Given the description of an element on the screen output the (x, y) to click on. 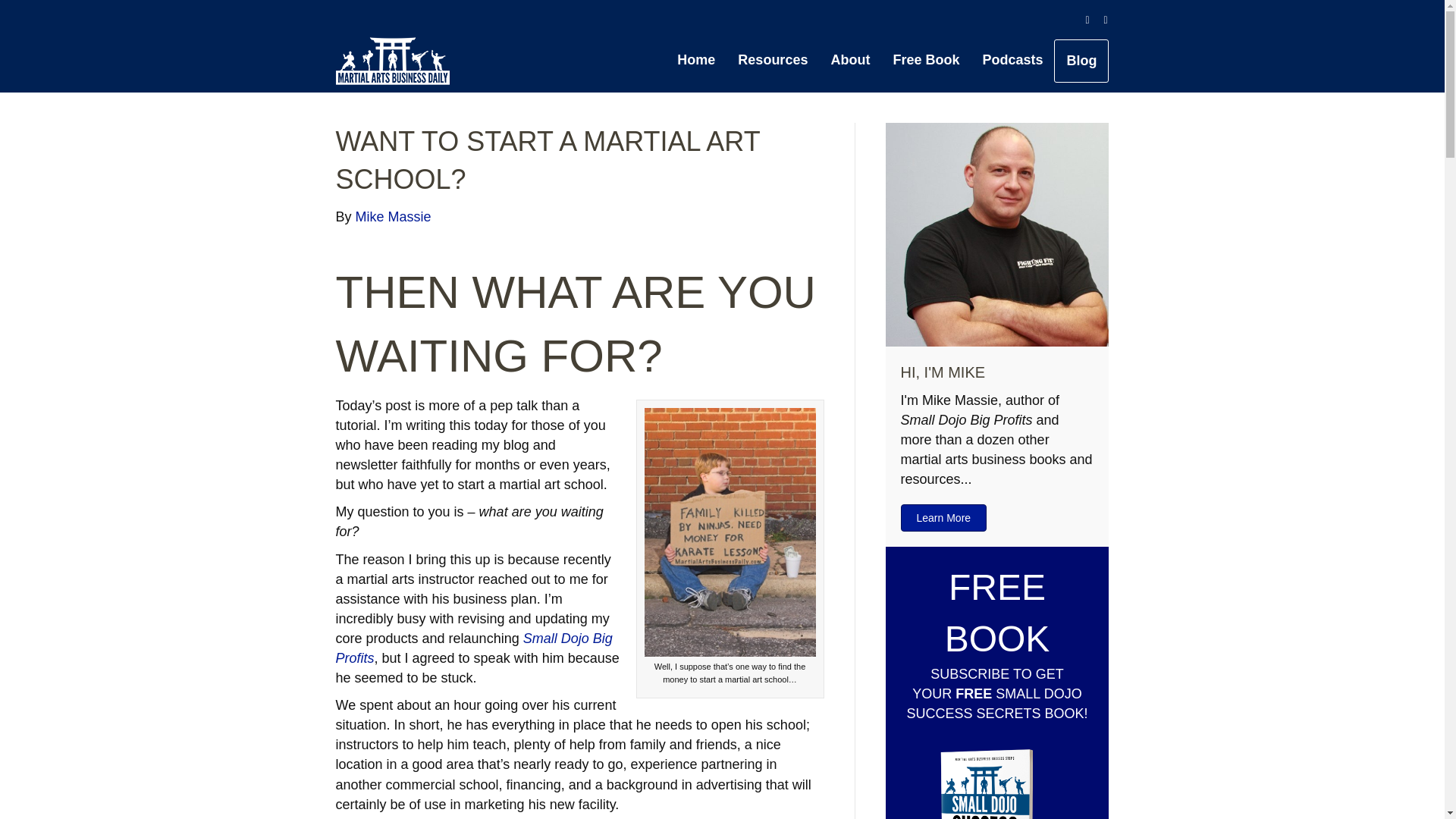
Home (695, 60)
About (849, 60)
Youtube (1097, 19)
Free Book (925, 60)
Facebook (1079, 19)
Martial Arts Business Daily Home Page (695, 60)
small-dojo-success-secrets-3d-500 (997, 775)
Blog (1081, 60)
mike-massie-profile (997, 234)
Podcasts (1012, 60)
